Given the description of an element on the screen output the (x, y) to click on. 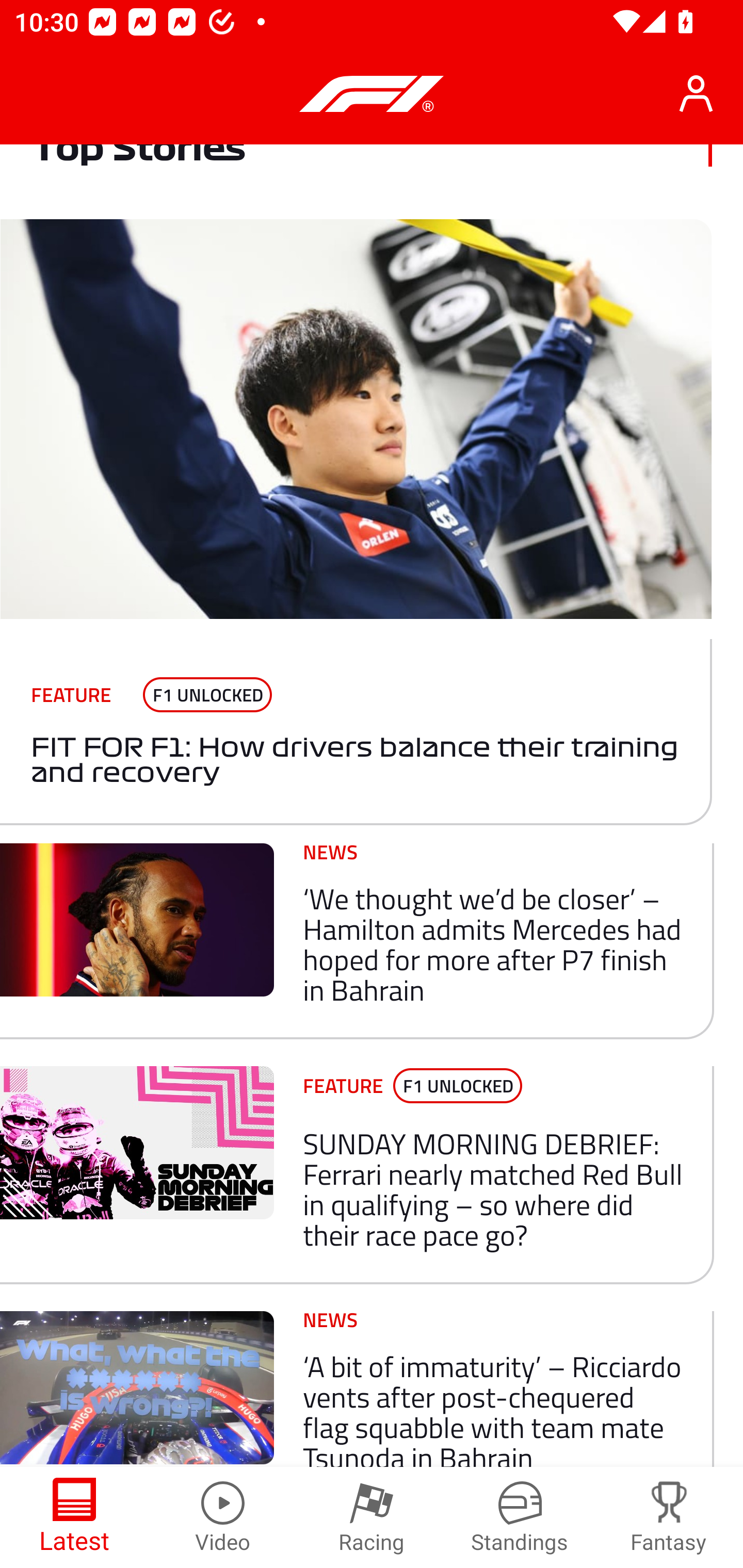
Video (222, 1517)
Racing (371, 1517)
Standings (519, 1517)
Fantasy (668, 1517)
